Given the description of an element on the screen output the (x, y) to click on. 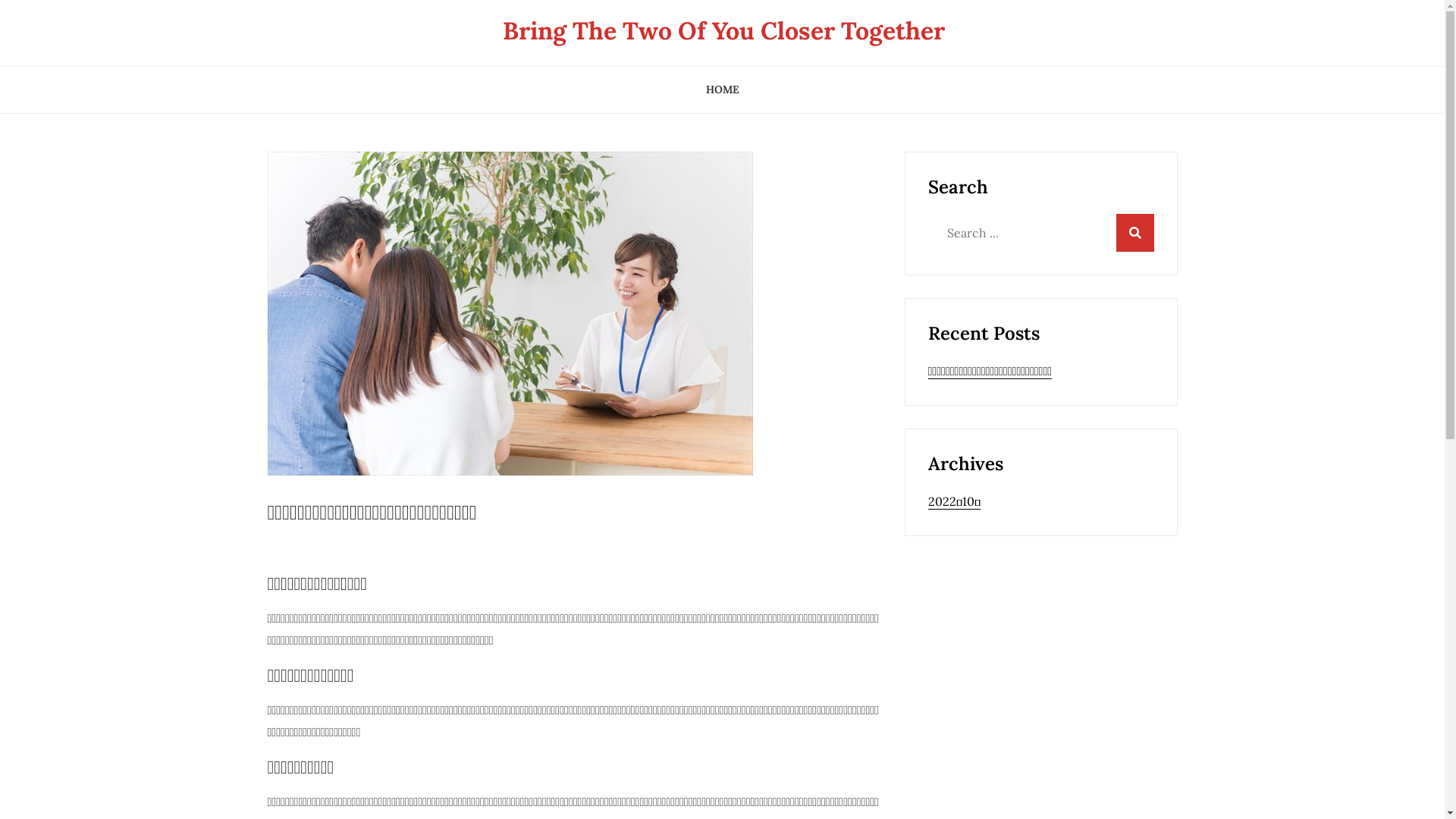
Search for: Element type: hover (1041, 232)
Bring The Two Of You Closer Together Element type: text (723, 30)
Search Element type: text (1135, 232)
HOME Element type: text (722, 89)
